Given the description of an element on the screen output the (x, y) to click on. 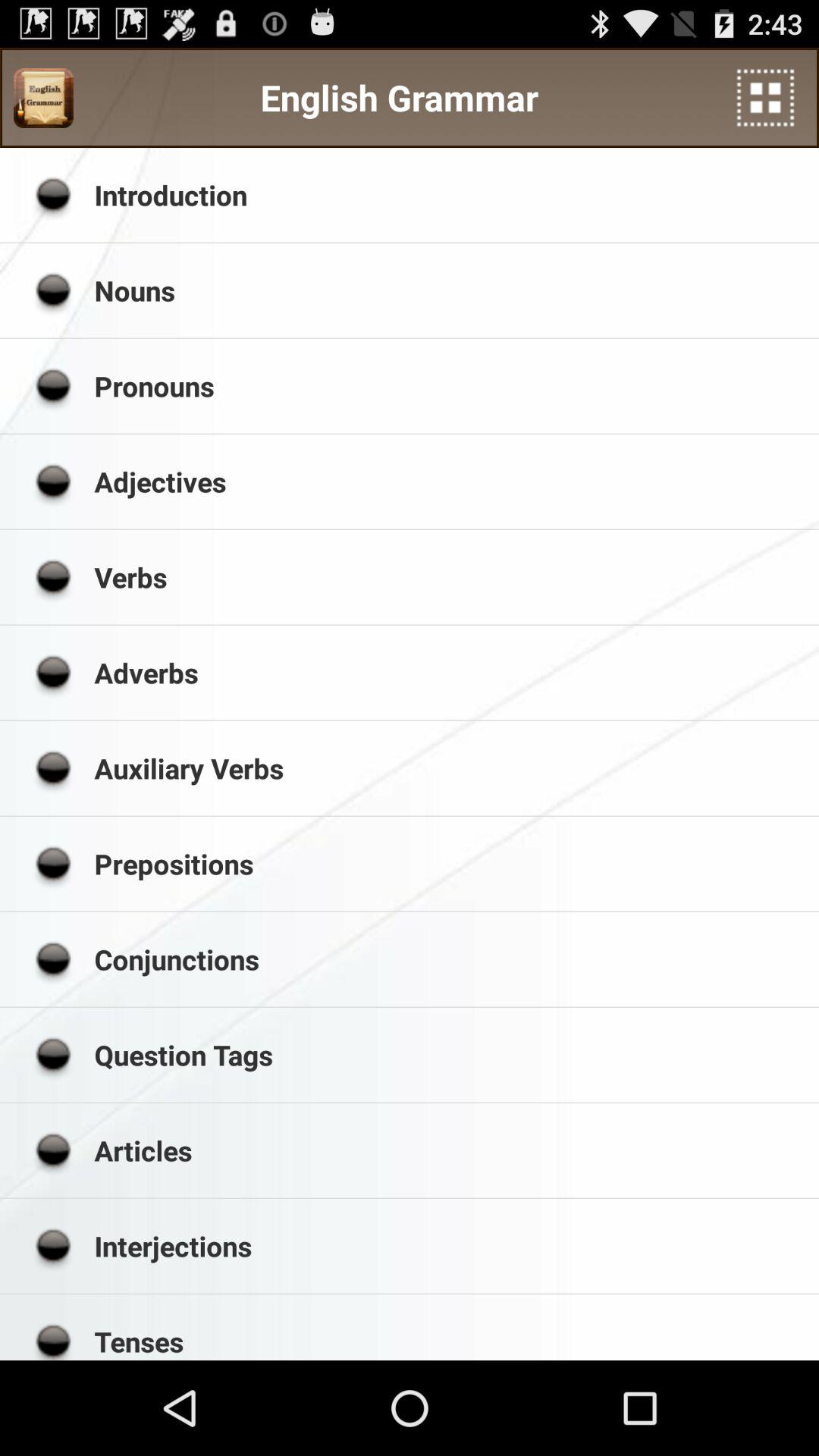
turn off the item below the verbs (451, 672)
